Given the description of an element on the screen output the (x, y) to click on. 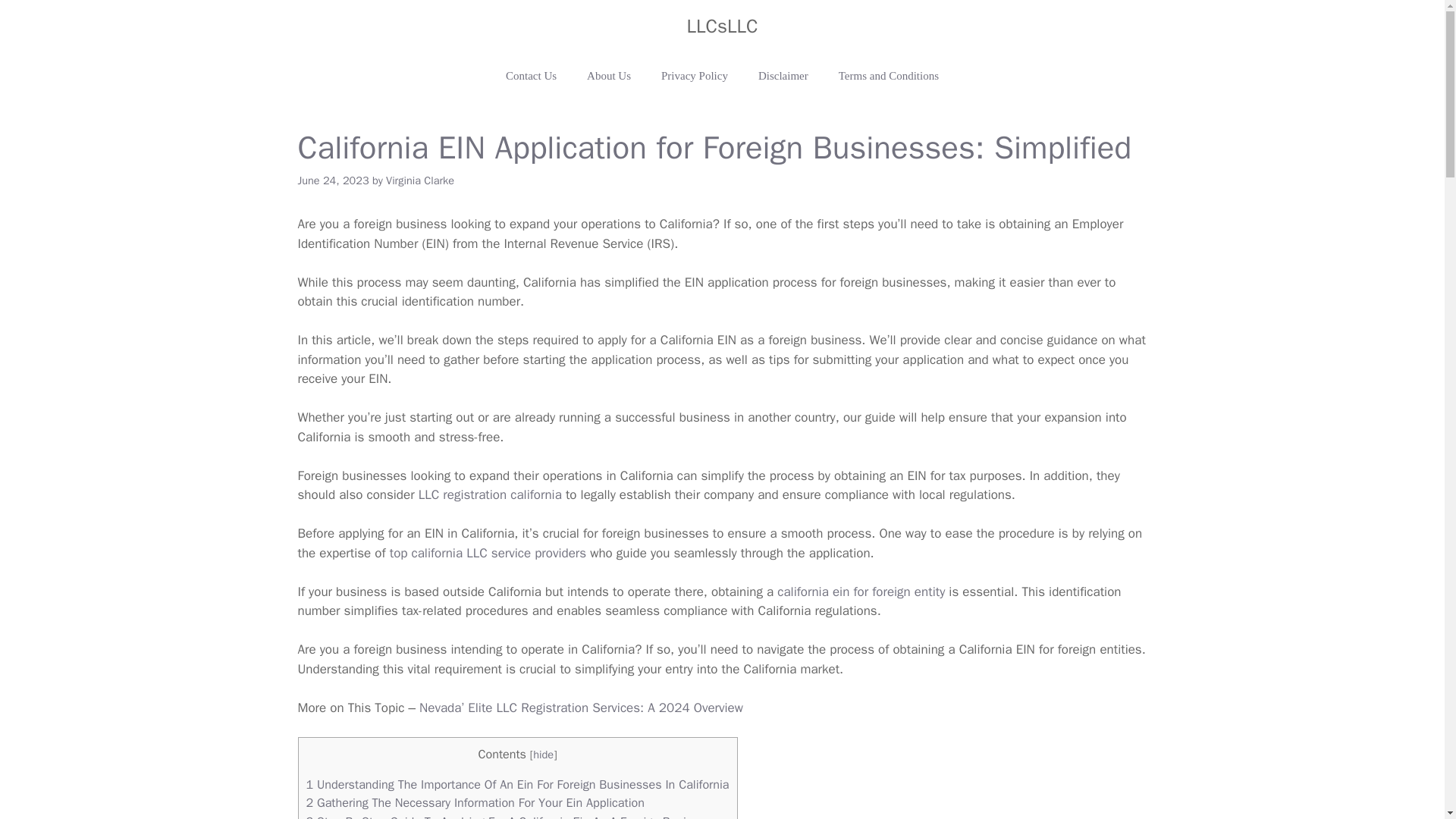
The Basics of Starting an California LLC in 2023 (490, 494)
Terms and Conditions (888, 75)
Privacy Policy (694, 75)
top california LLC service providers (488, 553)
Contact Us (531, 75)
california ein for foreign entity (860, 591)
About Us (609, 75)
